Given the description of an element on the screen output the (x, y) to click on. 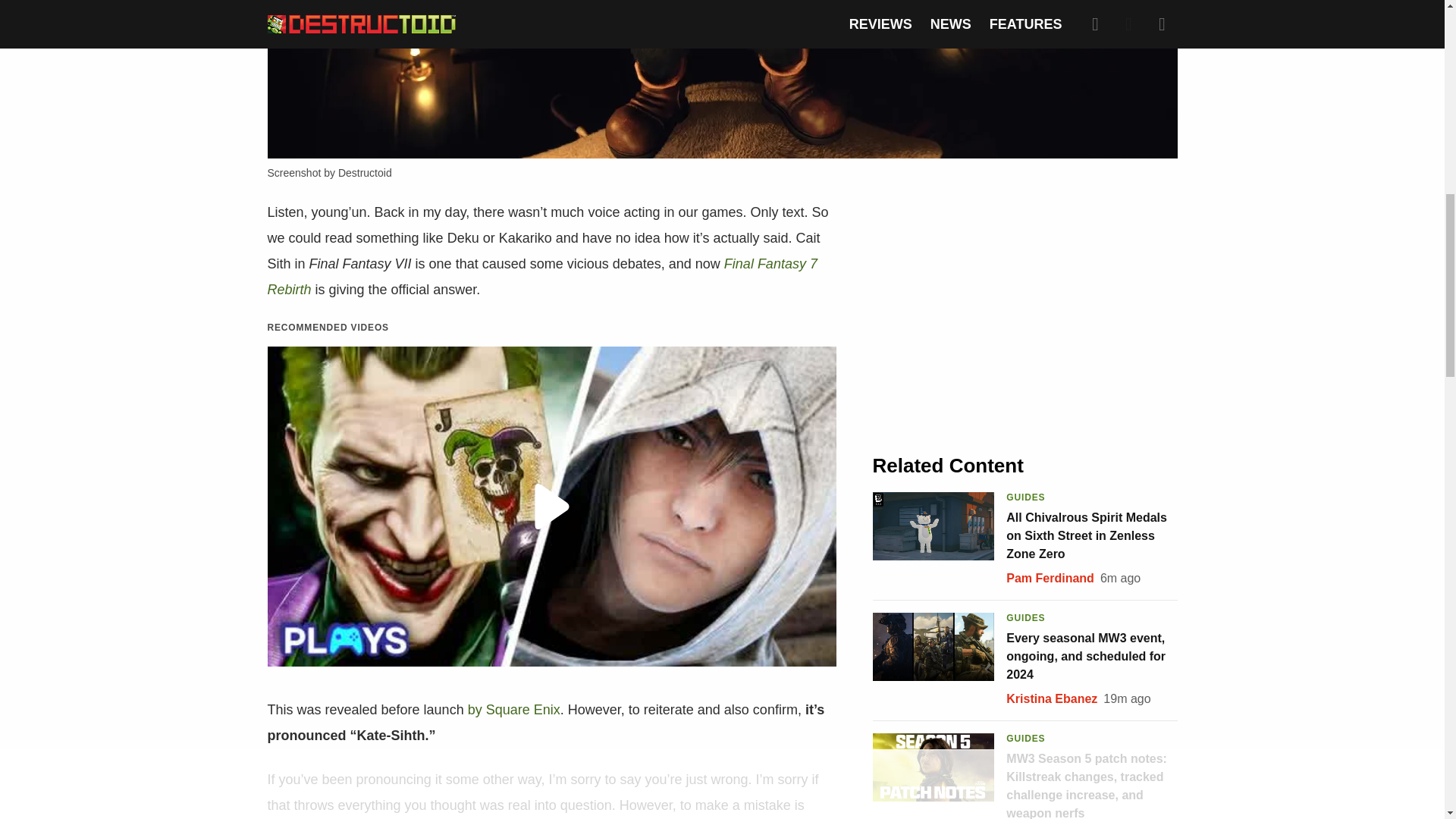
by Square Enix (513, 709)
3rd party ad content (1024, 312)
Final Fantasy 7 Rebirth (541, 276)
